Given the description of an element on the screen output the (x, y) to click on. 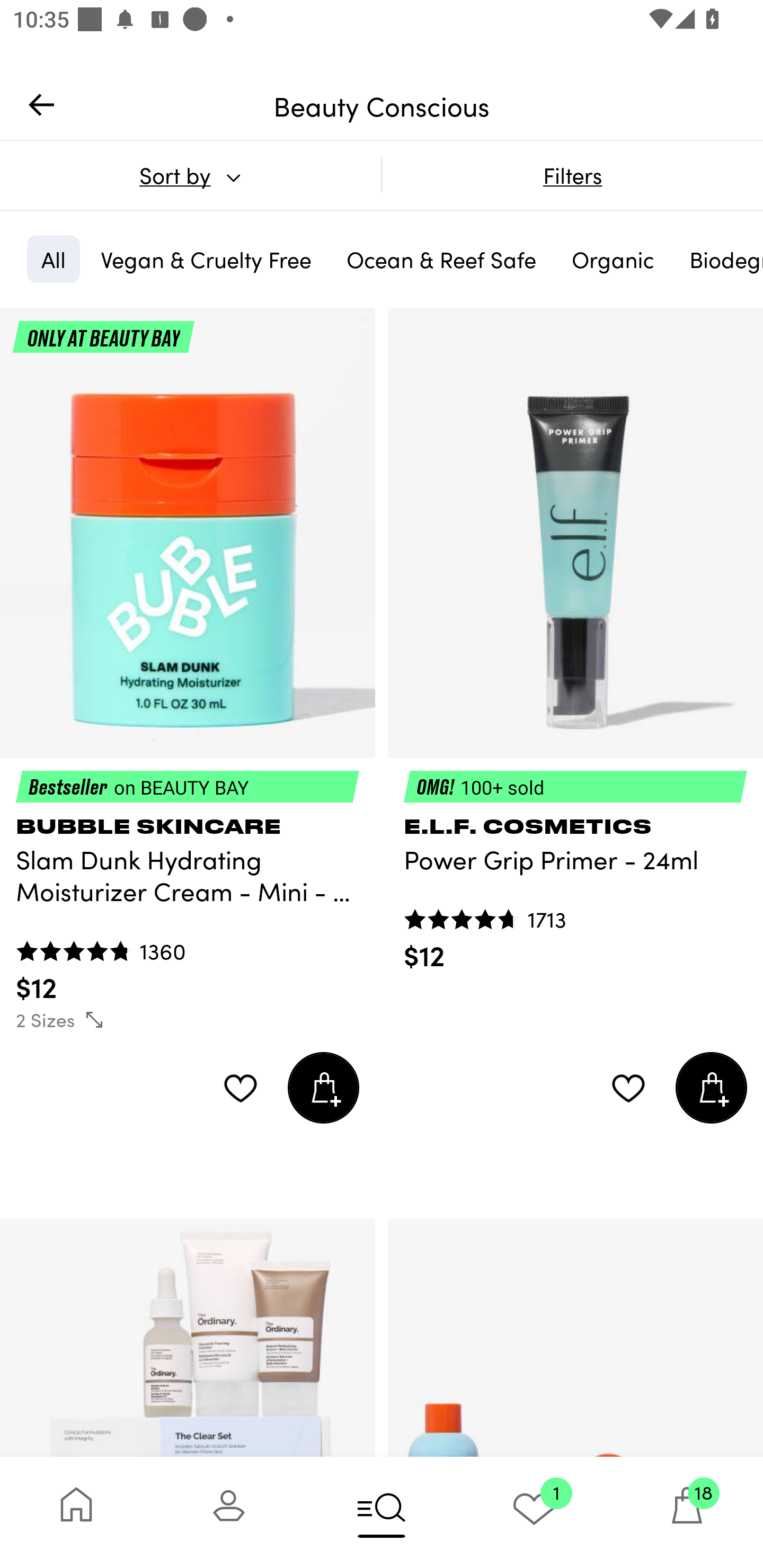
Sort by (190, 174)
Filters (572, 174)
All (53, 258)
Vegan & Cruelty Free (205, 258)
Ocean & Reef Safe (440, 258)
Organic (612, 258)
Biodegradable (719, 258)
1 (533, 1512)
18 (686, 1512)
